Given the description of an element on the screen output the (x, y) to click on. 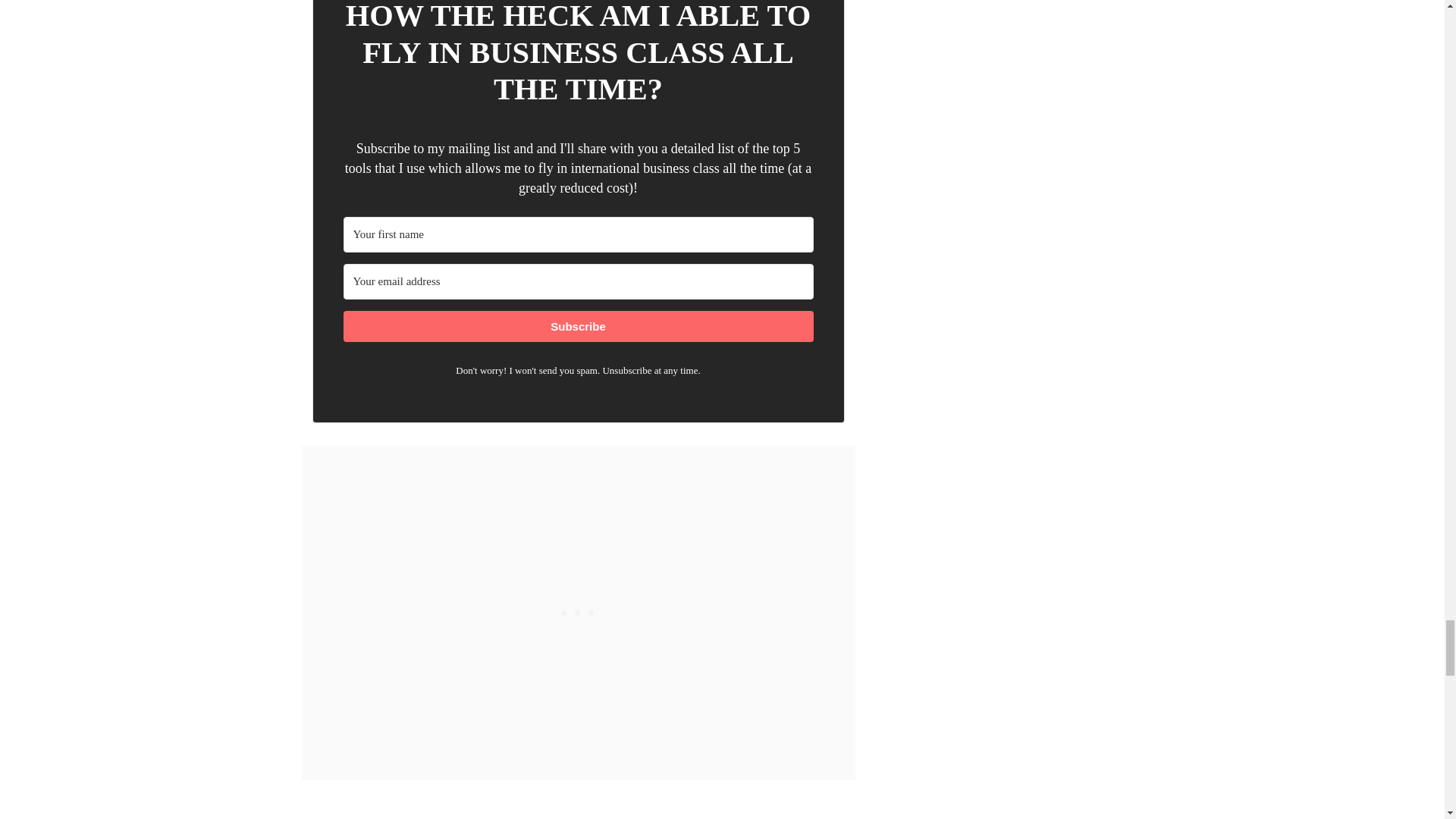
Subscribe (577, 326)
